Given the description of an element on the screen output the (x, y) to click on. 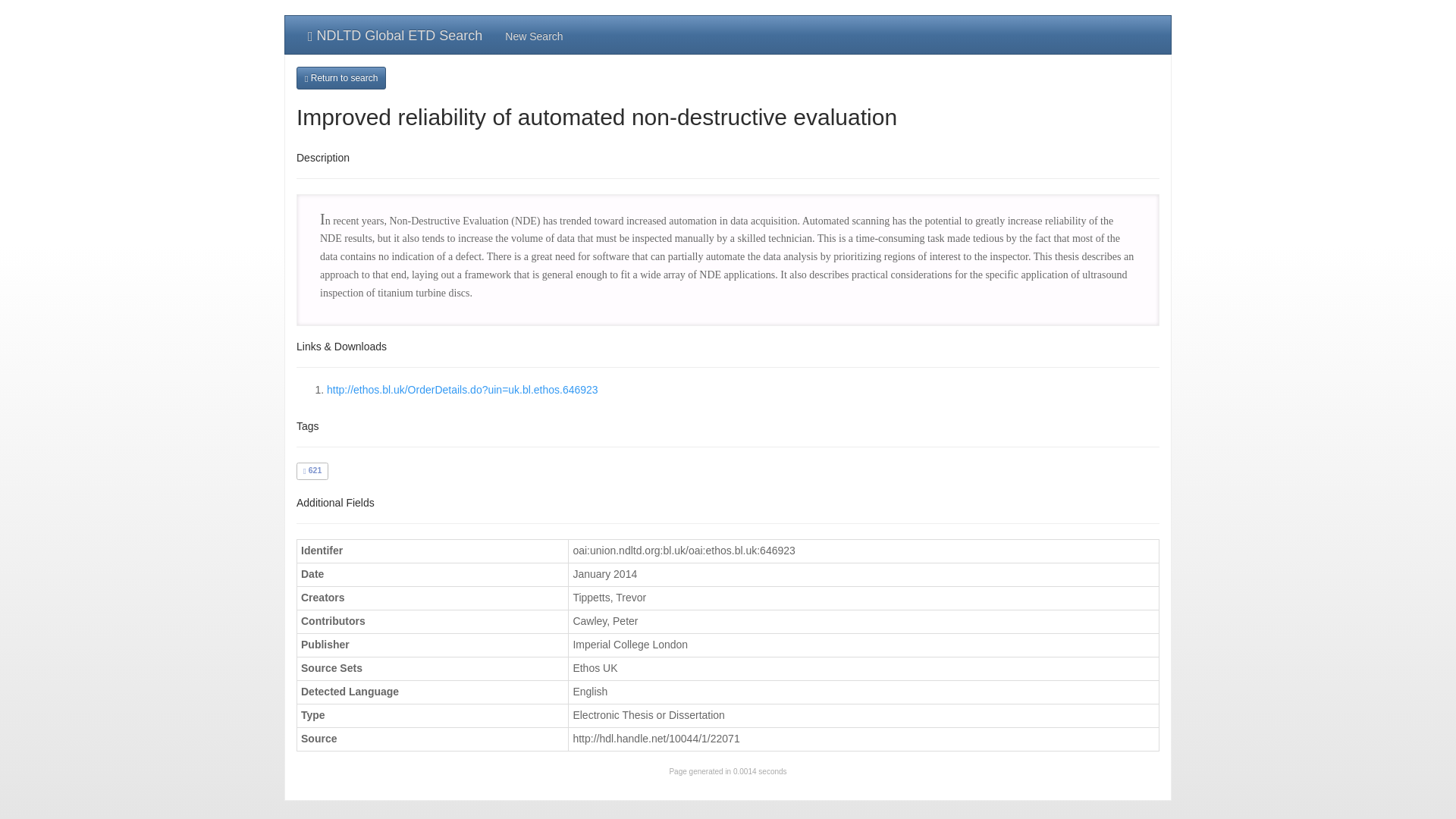
New Search (533, 34)
Return to search (341, 77)
621 (311, 470)
NDLTD Global ETD Search (395, 34)
